Given the description of an element on the screen output the (x, y) to click on. 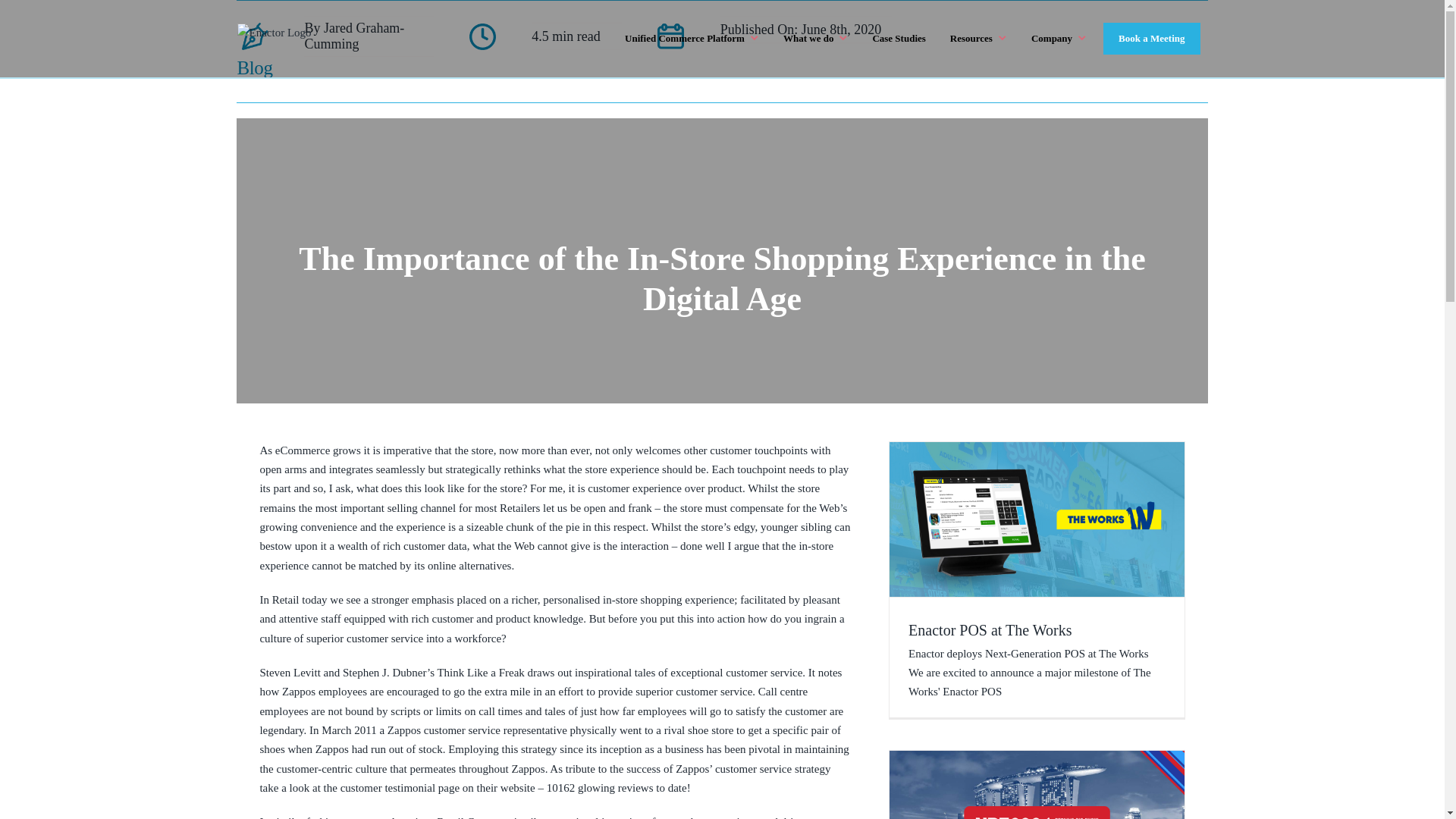
Case Studies (899, 38)
Company (1059, 38)
What we do (816, 38)
Unified Commerce Platform (692, 38)
Resources (979, 38)
